Given the description of an element on the screen output the (x, y) to click on. 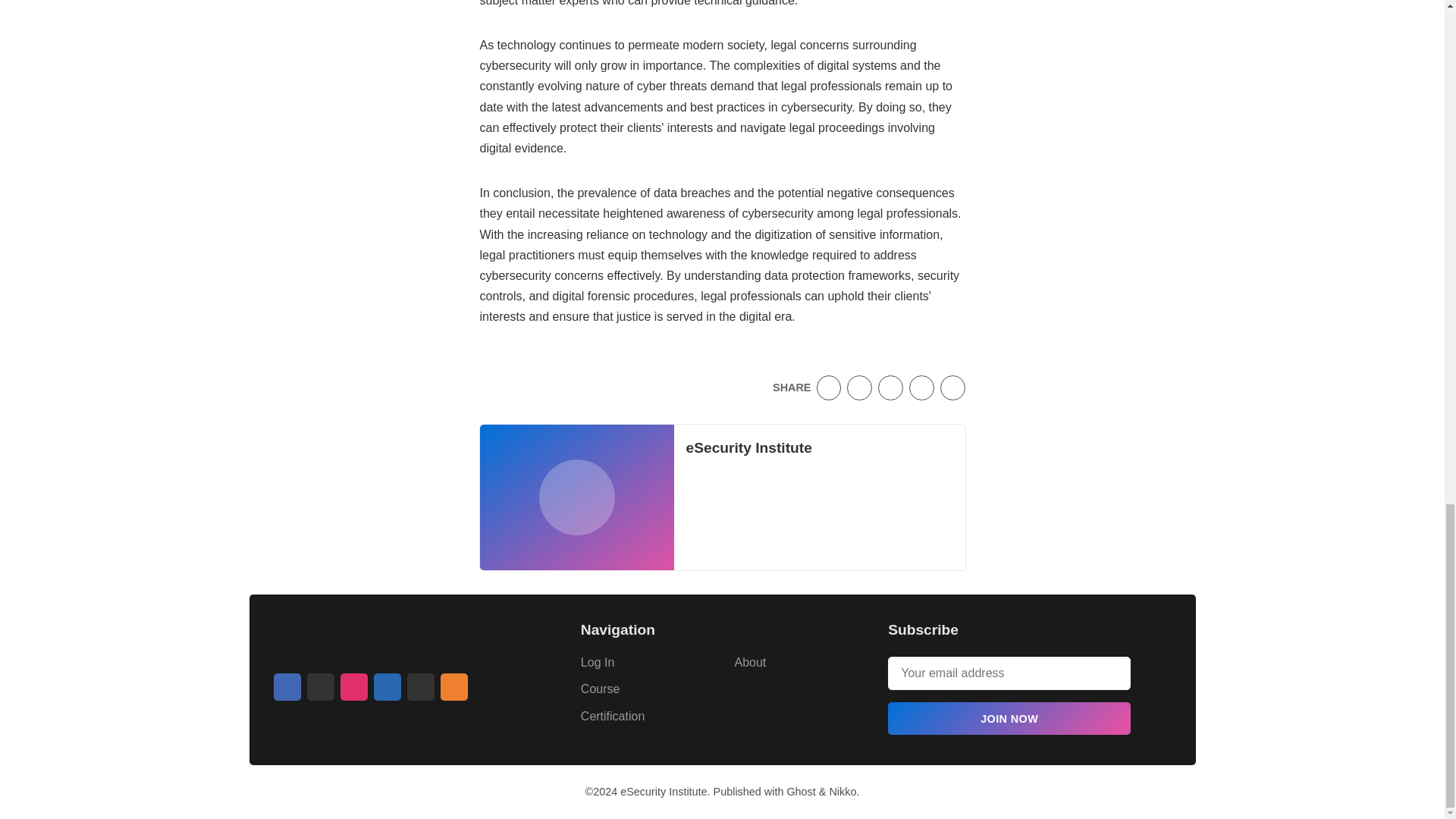
Share on Twitter (828, 387)
Share by email (921, 387)
JOIN NOW (1009, 717)
Share on Linkedin (889, 387)
Facebook (286, 687)
Log In (597, 662)
Course (600, 688)
Instagram (352, 687)
Certification (612, 716)
Copy to clipboard (952, 387)
Github (419, 687)
About (749, 662)
eSecurity Institute (747, 447)
eSecurity Institute (663, 791)
Share on Facebook (859, 387)
